Given the description of an element on the screen output the (x, y) to click on. 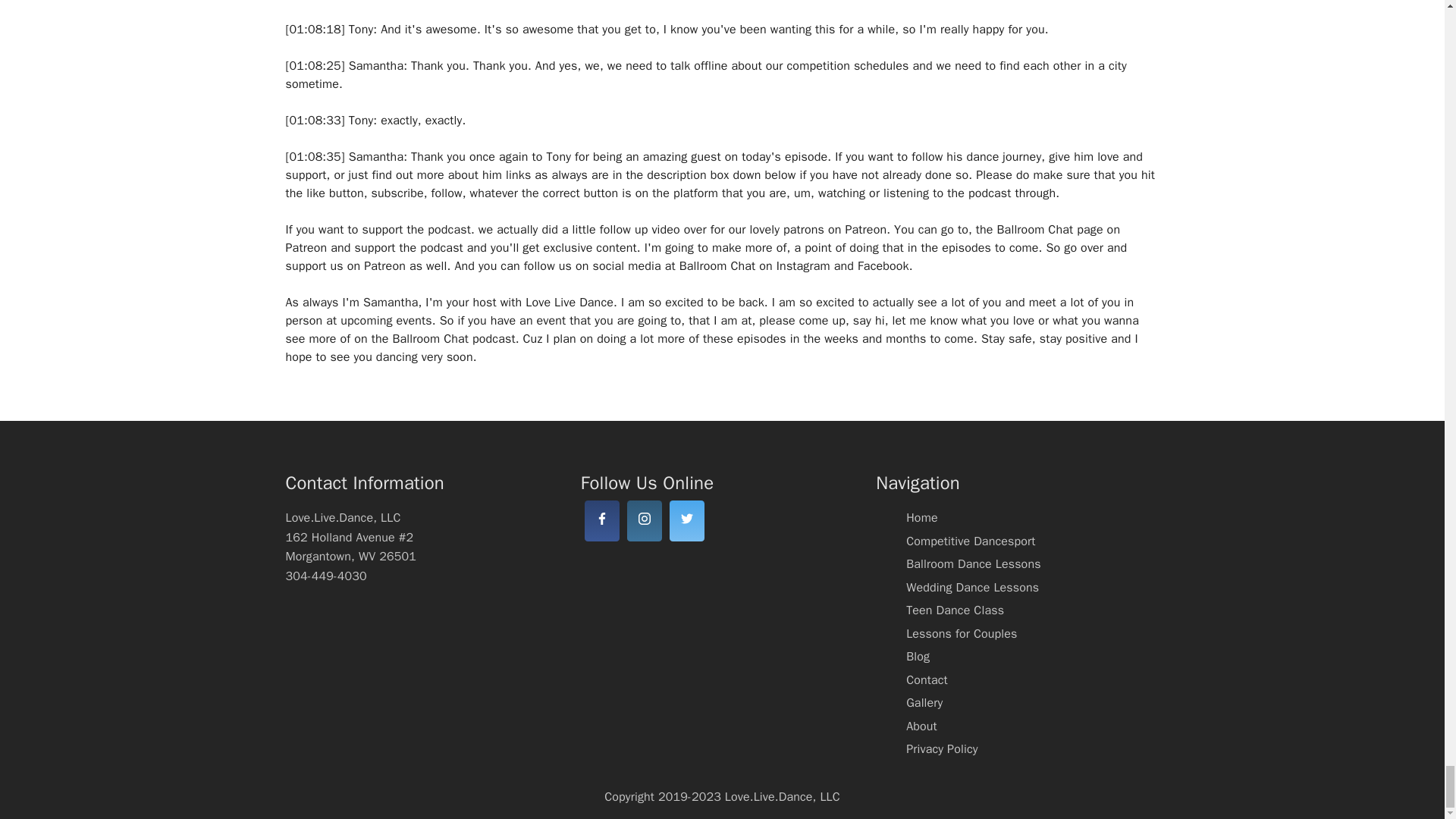
Privacy Policy (940, 749)
Lessons for Couples (960, 633)
Home (921, 517)
Blog (917, 656)
Contact (926, 679)
Wedding Dance Lessons (972, 587)
Teen Dance Class (954, 610)
About (921, 726)
Ballroom Dance Lessons (973, 563)
Competitive Dancesport (970, 540)
